Given the description of an element on the screen output the (x, y) to click on. 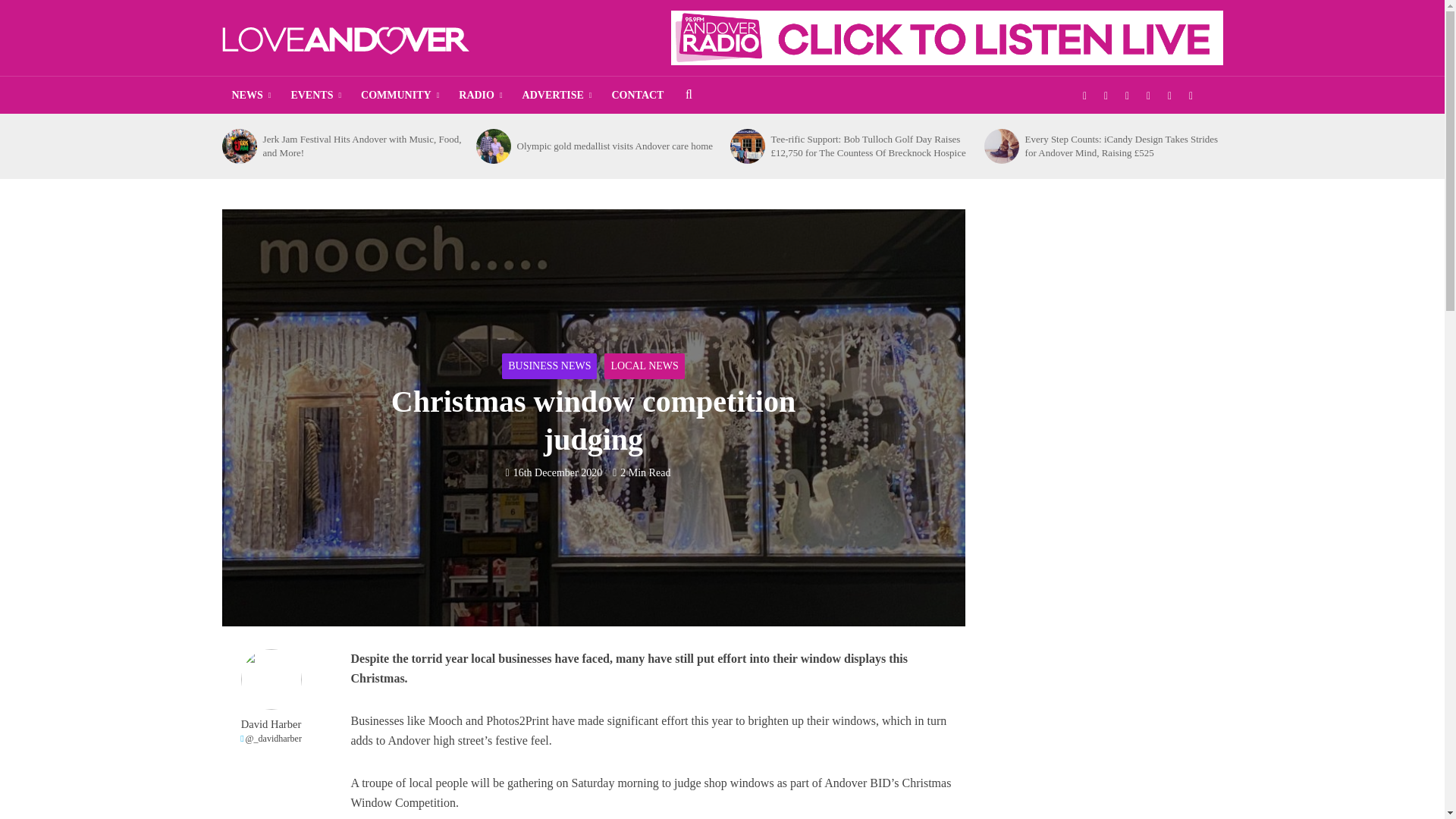
COMMUNITY (399, 95)
EVENTS (315, 95)
NEWS (251, 95)
Jerk Jam Festival Hits Andover with Music, Food, and More! (237, 145)
RADIO (480, 95)
Olympic gold medallist visits Andover care home (492, 145)
